Given the description of an element on the screen output the (x, y) to click on. 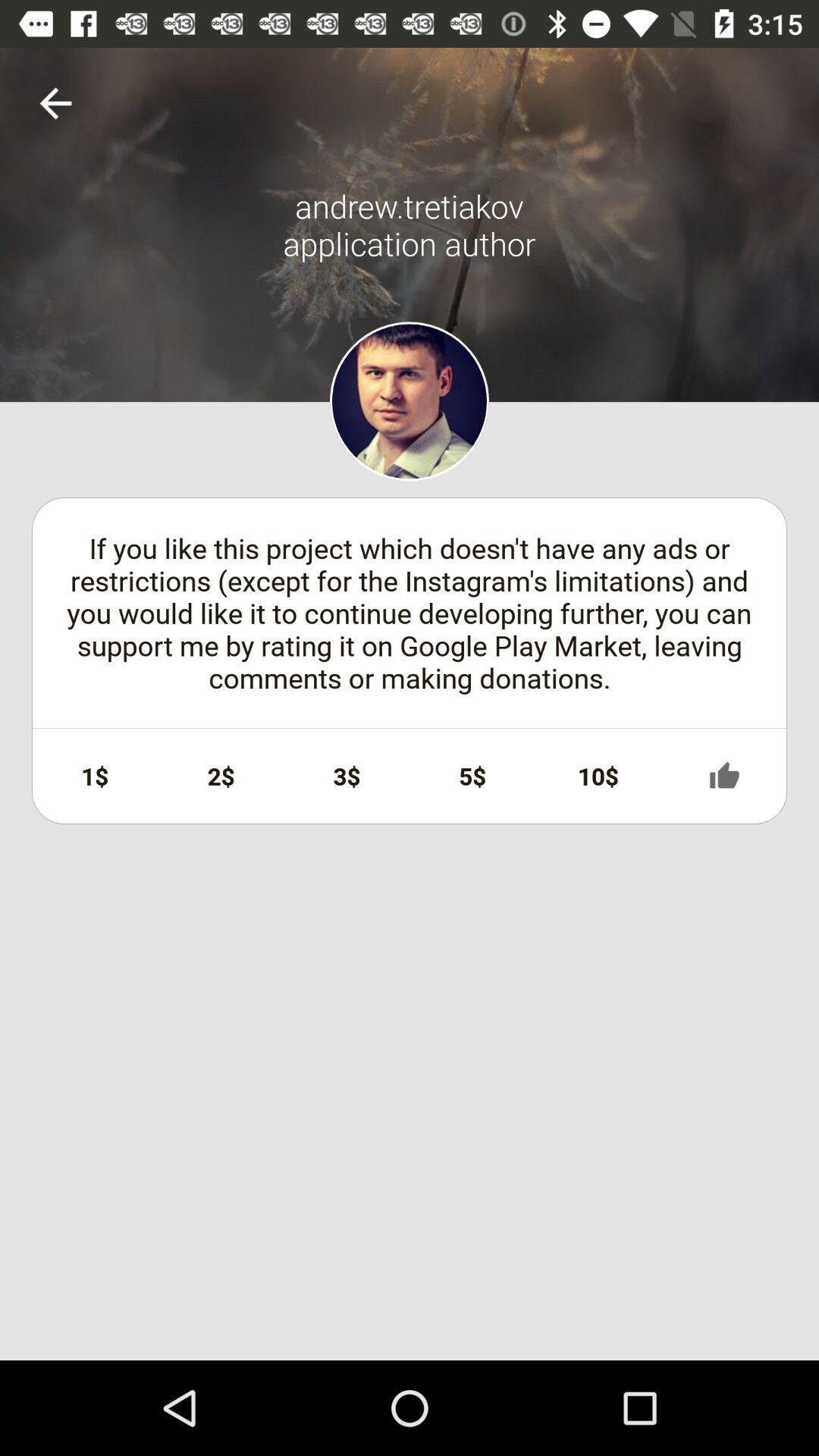
scroll to 2$ icon (221, 776)
